Given the description of an element on the screen output the (x, y) to click on. 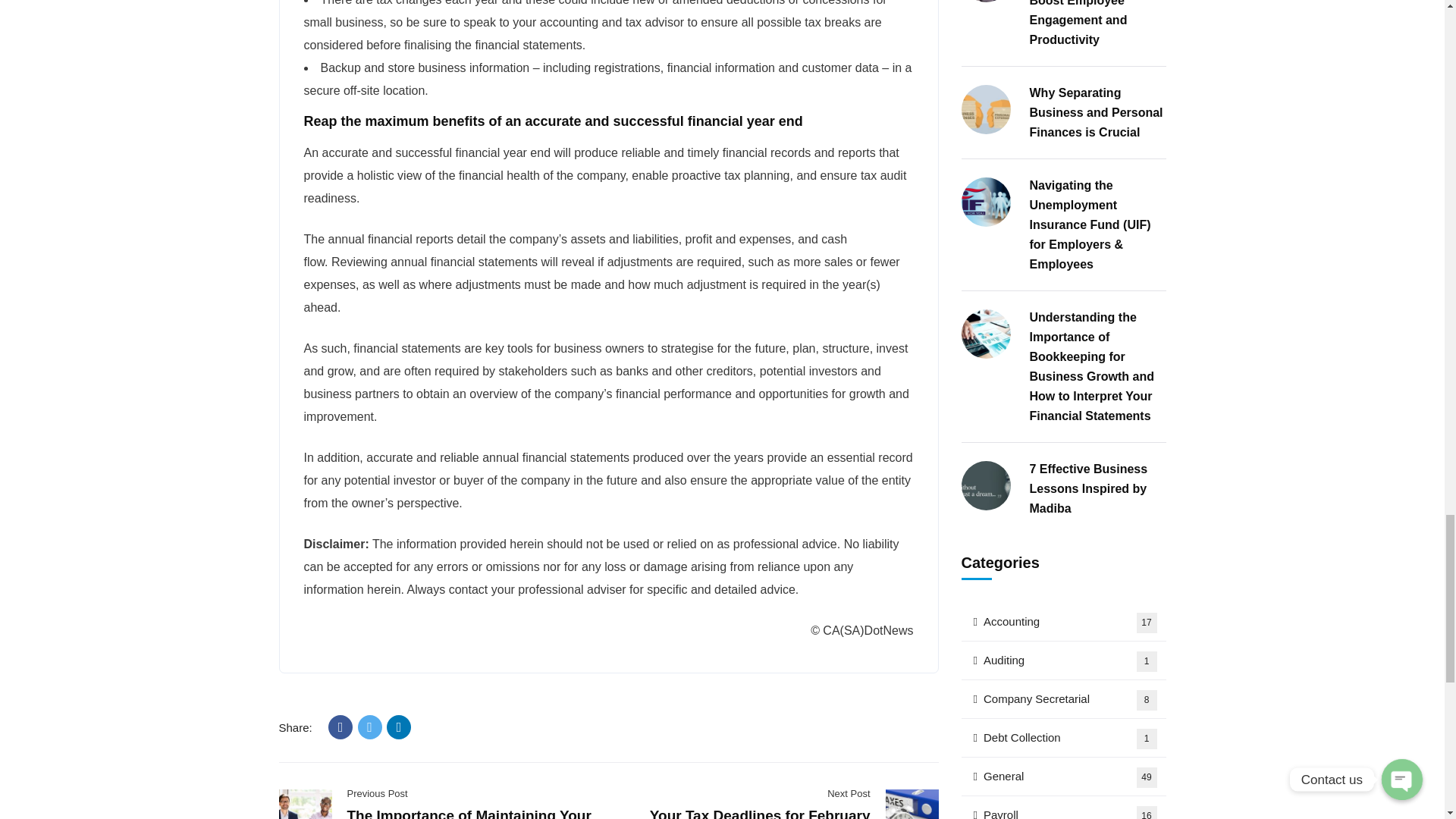
Twitter (369, 726)
Facebook (340, 726)
LinkedIn (398, 726)
